Given the description of an element on the screen output the (x, y) to click on. 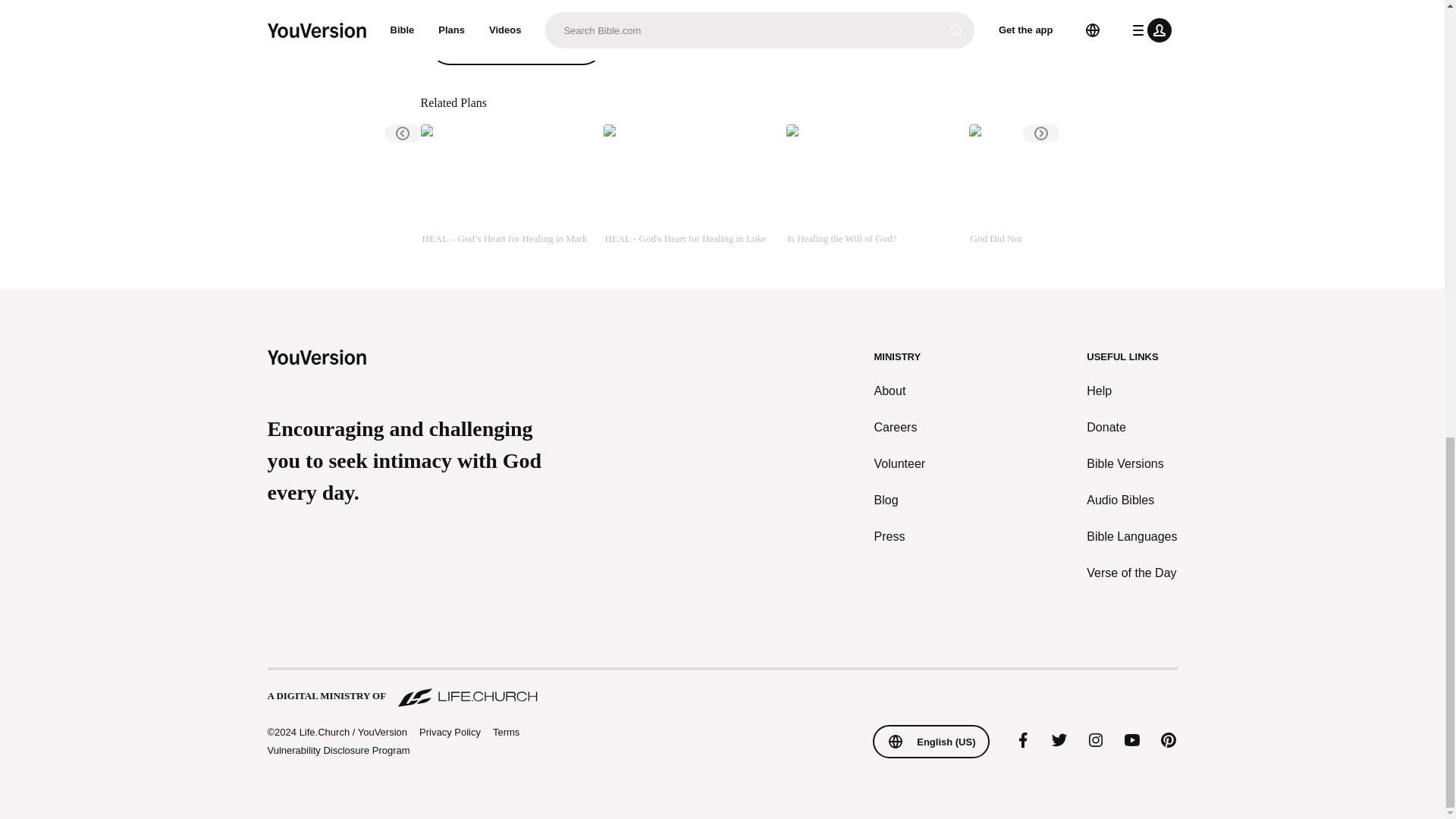
Verse of the Day (1131, 573)
Bible Versions (1131, 464)
Privacy Policy (449, 732)
Audio Bibles (1131, 500)
HEAL - God's Heart for Healing in Luke (689, 185)
Help (1131, 391)
About The Publisher (514, 45)
Blog (900, 500)
Vulnerability Disclosure Program (337, 749)
Is Healing the Will of God? (871, 185)
